Given the description of an element on the screen output the (x, y) to click on. 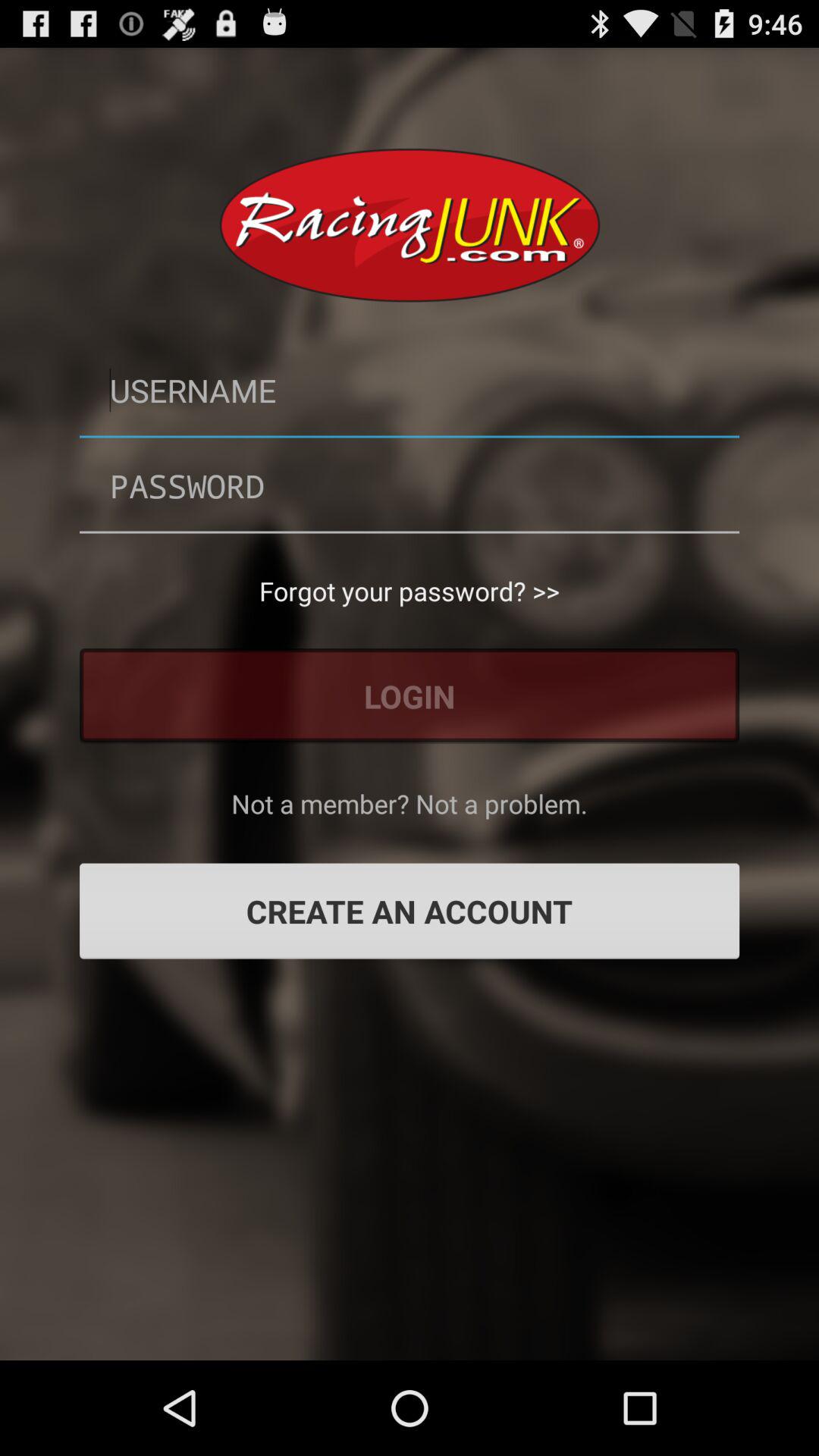
password column (409, 485)
